Given the description of an element on the screen output the (x, y) to click on. 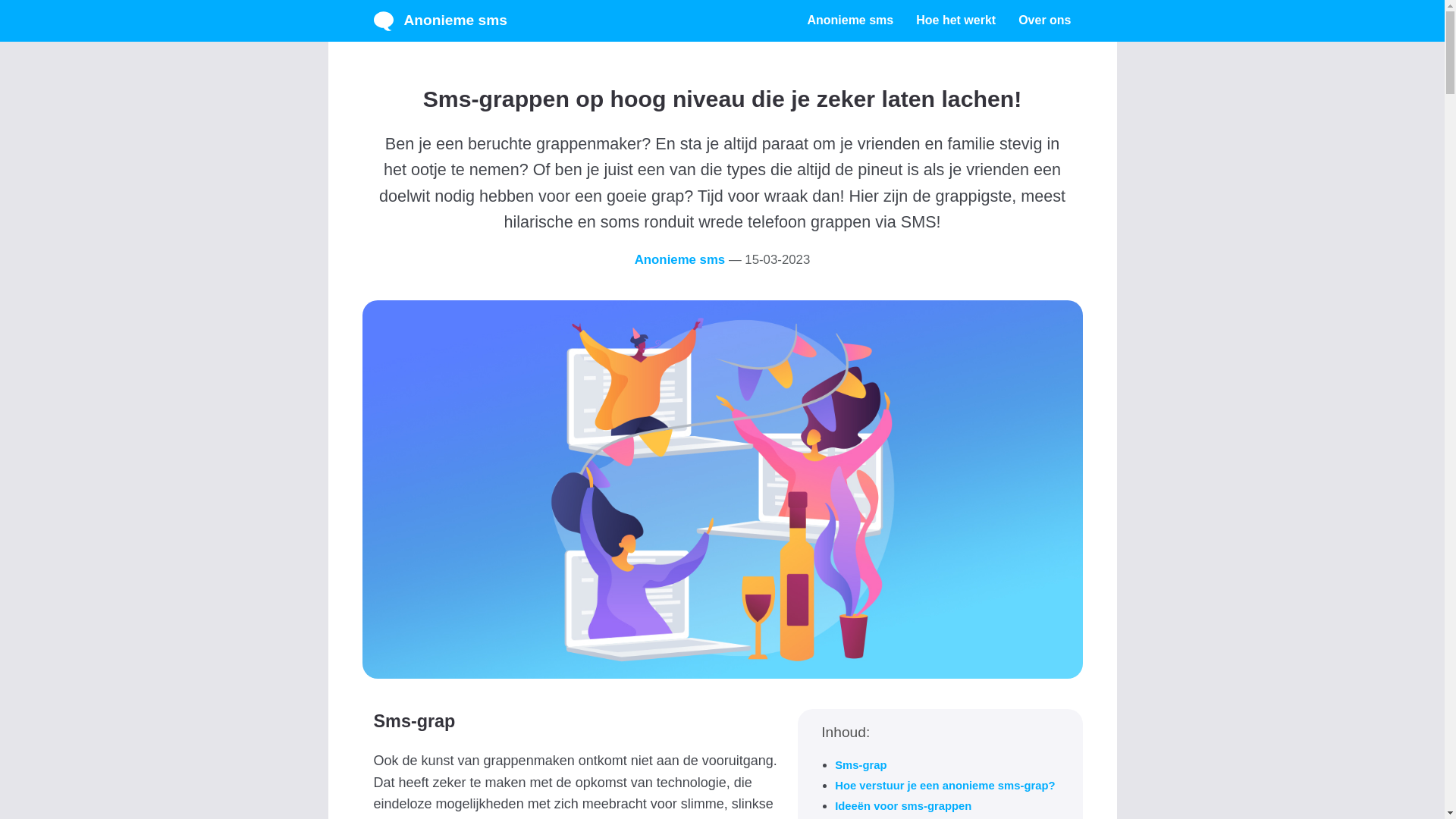
Anonieme sms Element type: text (567, 216)
Anonieme sms Element type: text (855, 20)
Sms-grap Element type: text (860, 765)
Hoe het werkt Element type: text (955, 20)
Anonieme sms Element type: text (721, 20)
Over ons Element type: text (1038, 20)
Hoe verstuur je een anonieme sms-grap? Element type: text (944, 785)
